Given the description of an element on the screen output the (x, y) to click on. 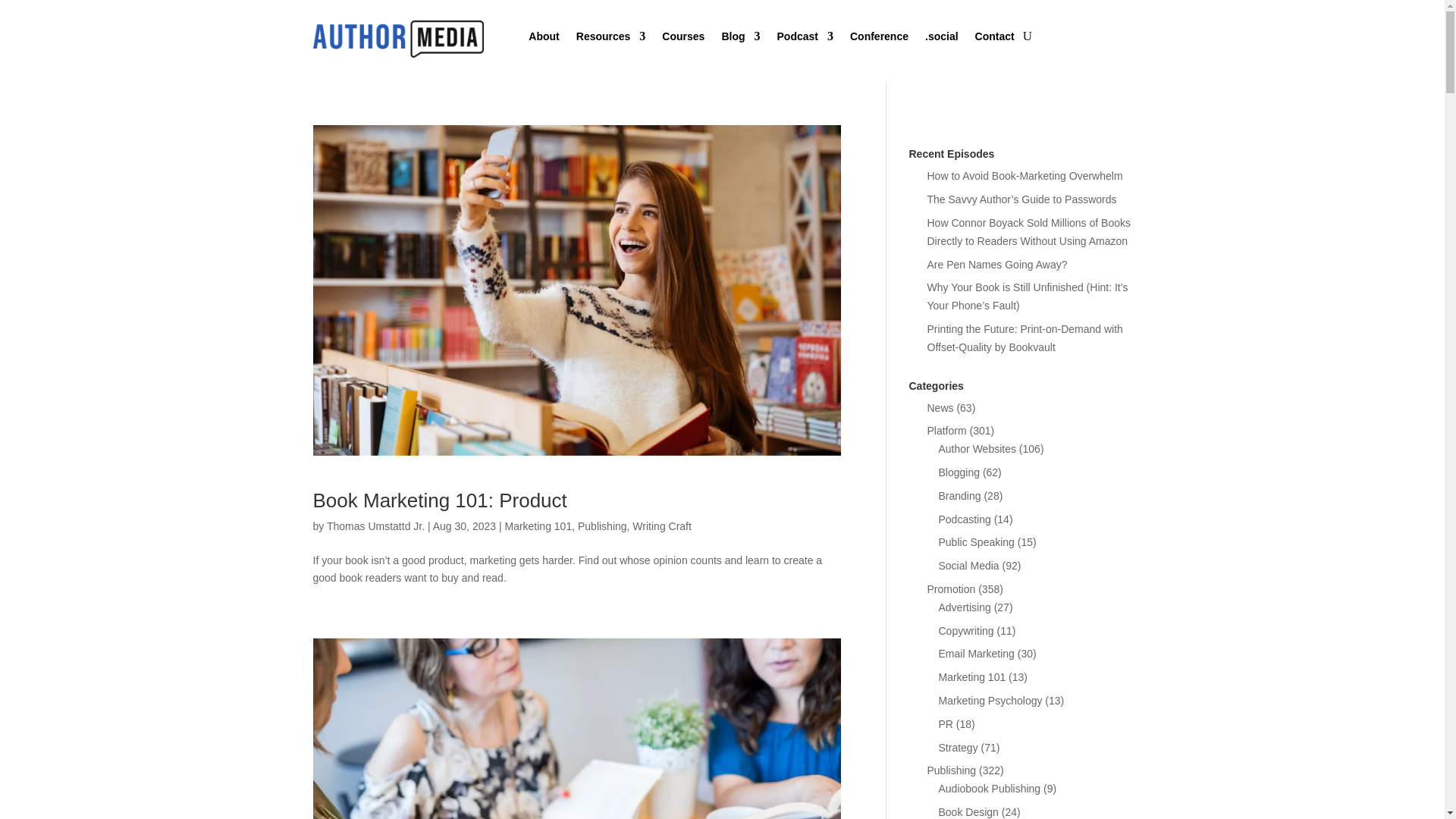
Thomas Umstattd Jr. (375, 526)
.social (941, 39)
Marketing 101 (537, 526)
Courses (683, 39)
Posts by Thomas Umstattd Jr. (375, 526)
Publishing (602, 526)
About (543, 39)
Blog (740, 39)
Contact (994, 39)
Resources (611, 39)
Book Marketing 101: Product (439, 499)
Podcast (804, 39)
Writing Craft (661, 526)
Conference (879, 39)
